Given the description of an element on the screen output the (x, y) to click on. 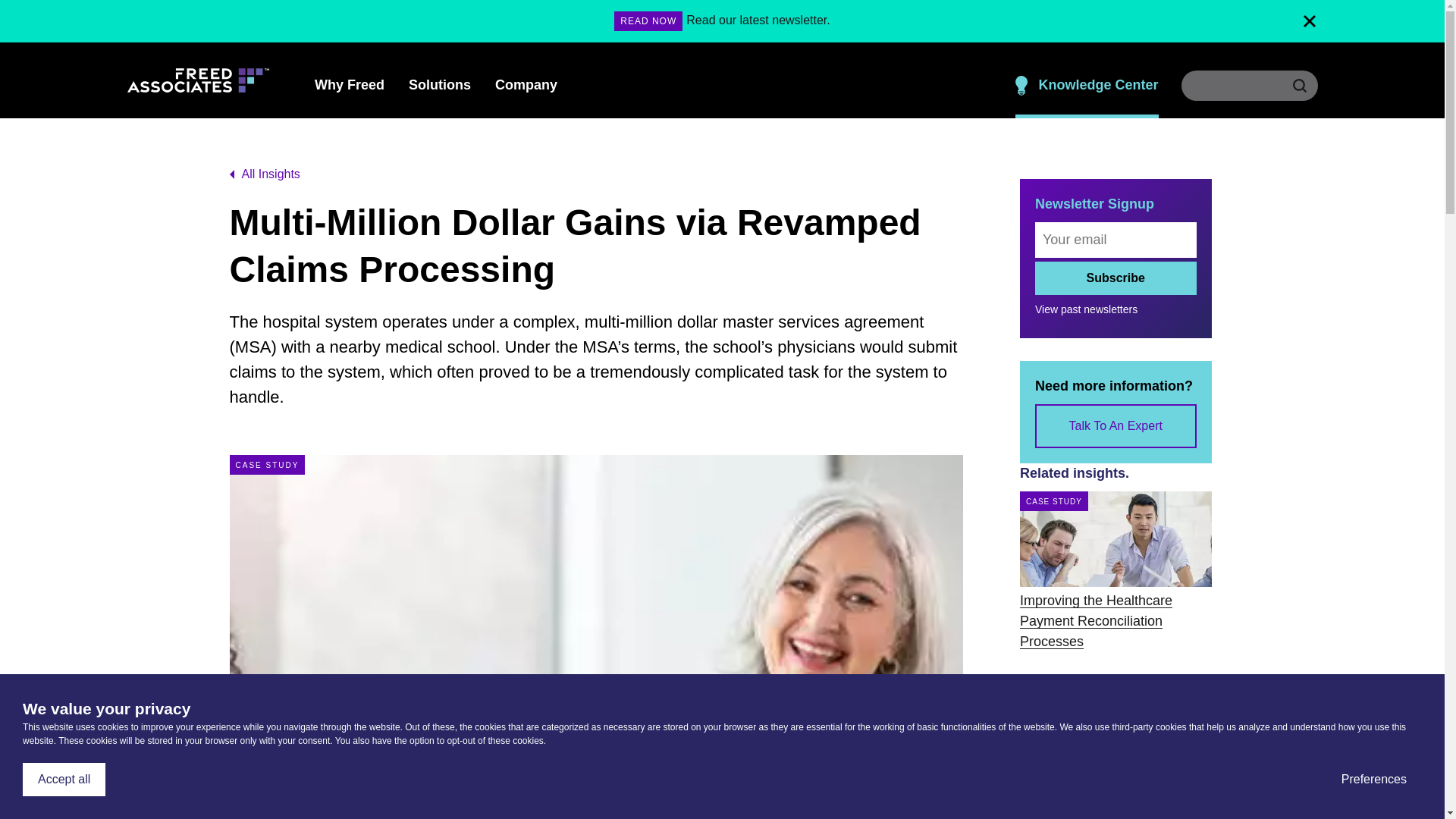
Knowledge Center (1085, 84)
Why Freed (349, 85)
Solutions (439, 85)
Read our latest newsletter. (757, 19)
Company (526, 85)
